Given the description of an element on the screen output the (x, y) to click on. 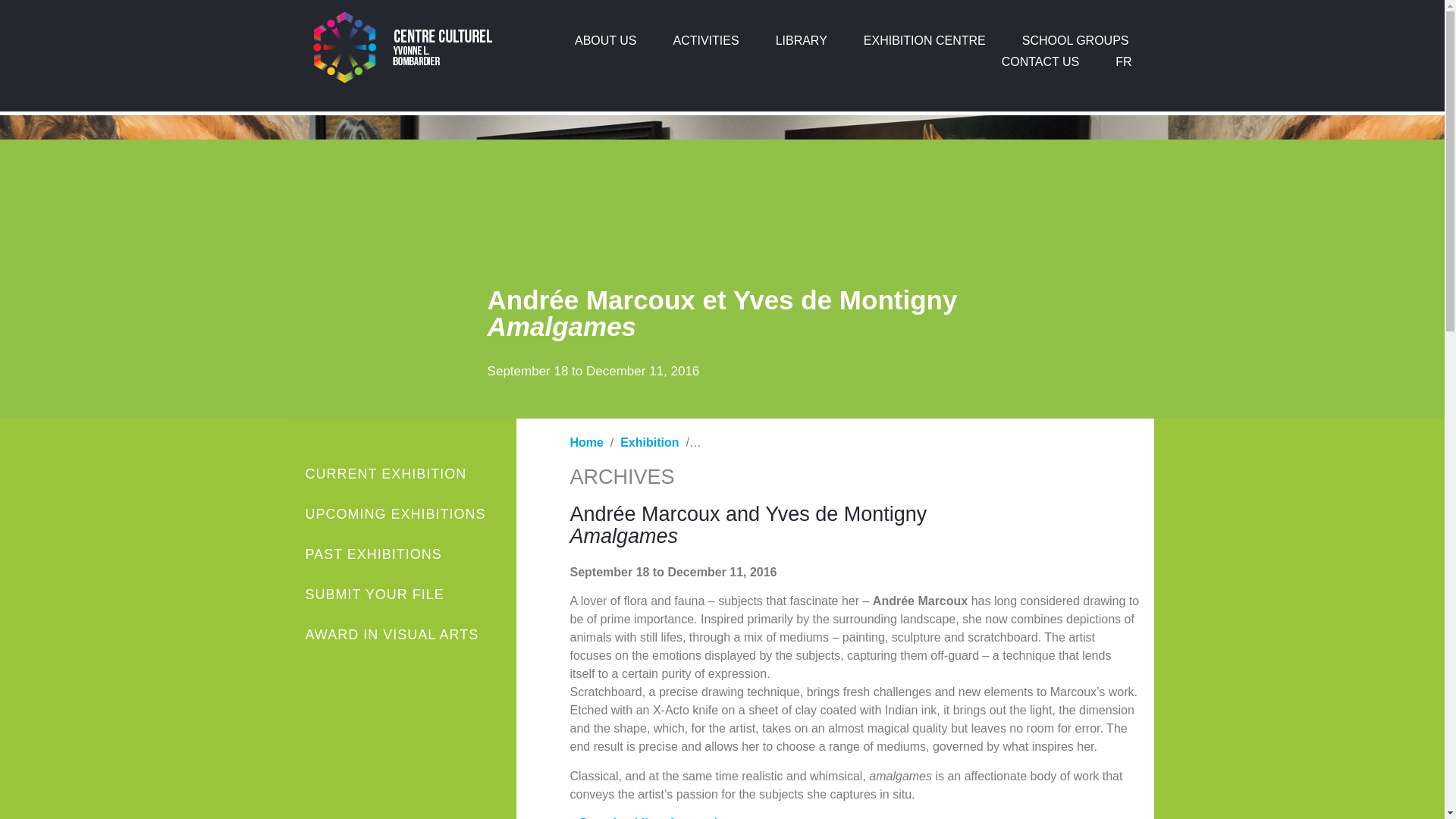
EXHIBITION CENTRE (924, 40)
ACTIVITIES (706, 40)
CONTACT US (1040, 61)
LIBRARY (801, 40)
SCHOOL GROUPS (1075, 40)
ABOUT US (605, 40)
FR (1123, 61)
